Given the description of an element on the screen output the (x, y) to click on. 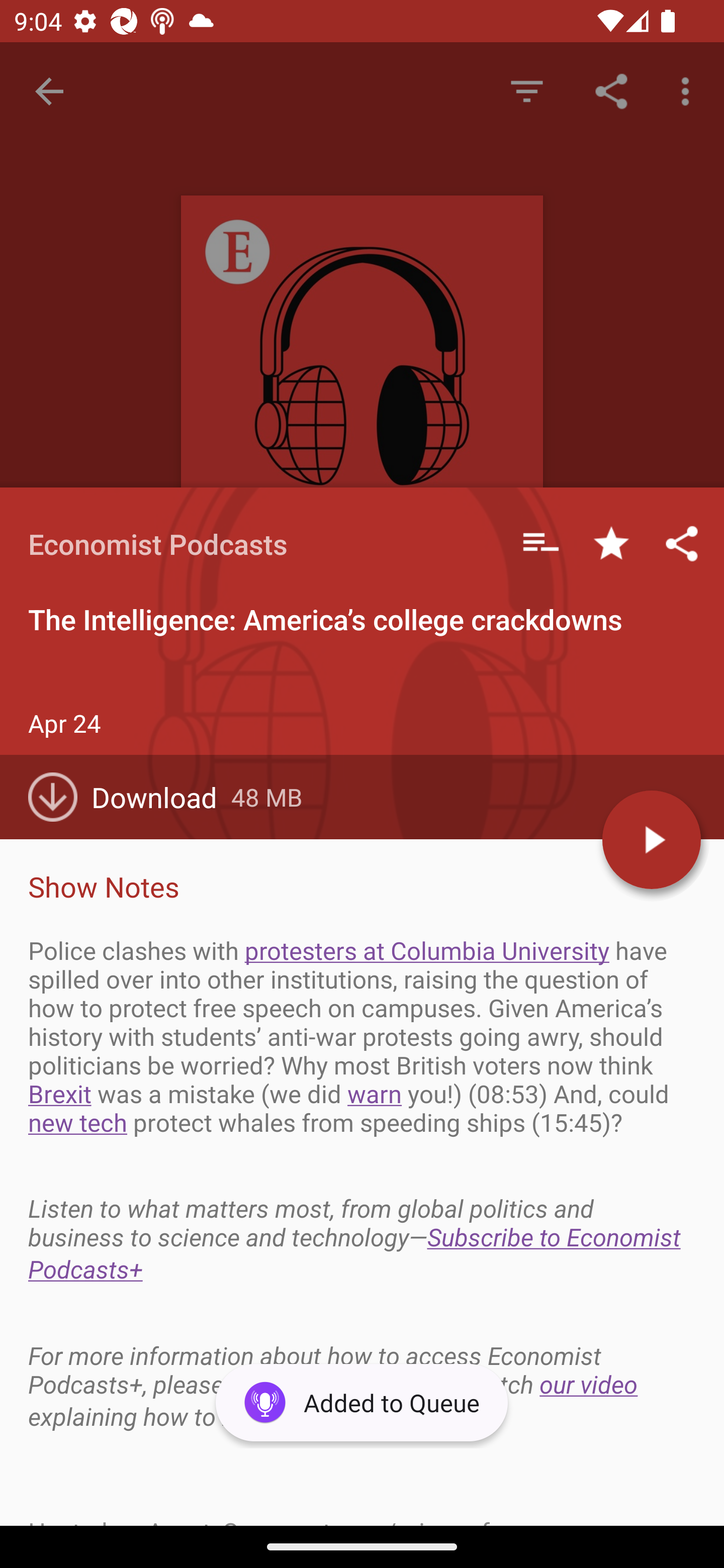
Navigate up (49, 91)
Hide Episodes (526, 90)
Share Link (611, 90)
More options (688, 90)
Download (129, 797)
